Given the description of an element on the screen output the (x, y) to click on. 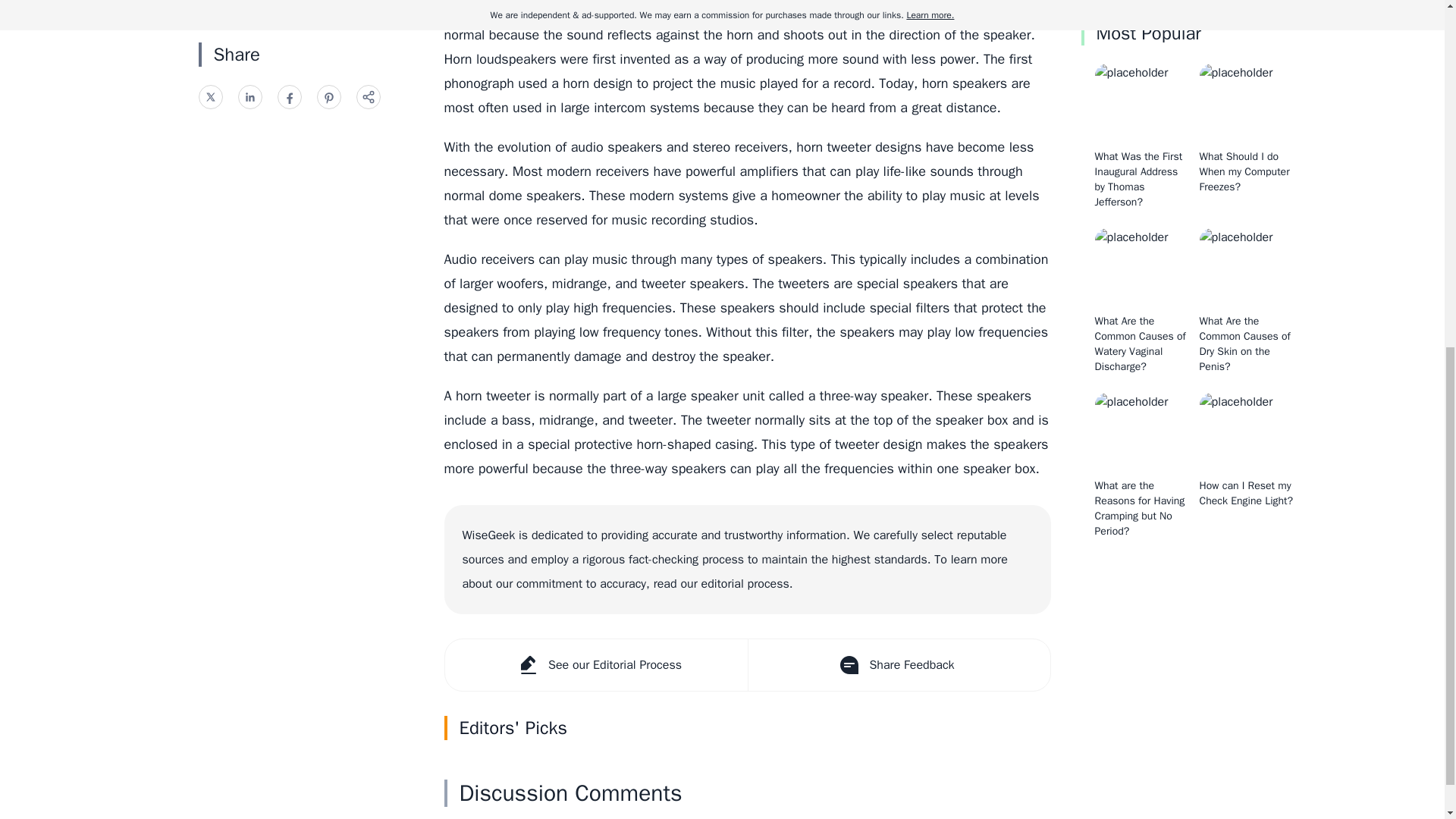
See our Editorial Process (595, 665)
Share Feedback (898, 665)
What Was the First Inaugural Address by Thomas Jefferson? (1138, 178)
